Given the description of an element on the screen output the (x, y) to click on. 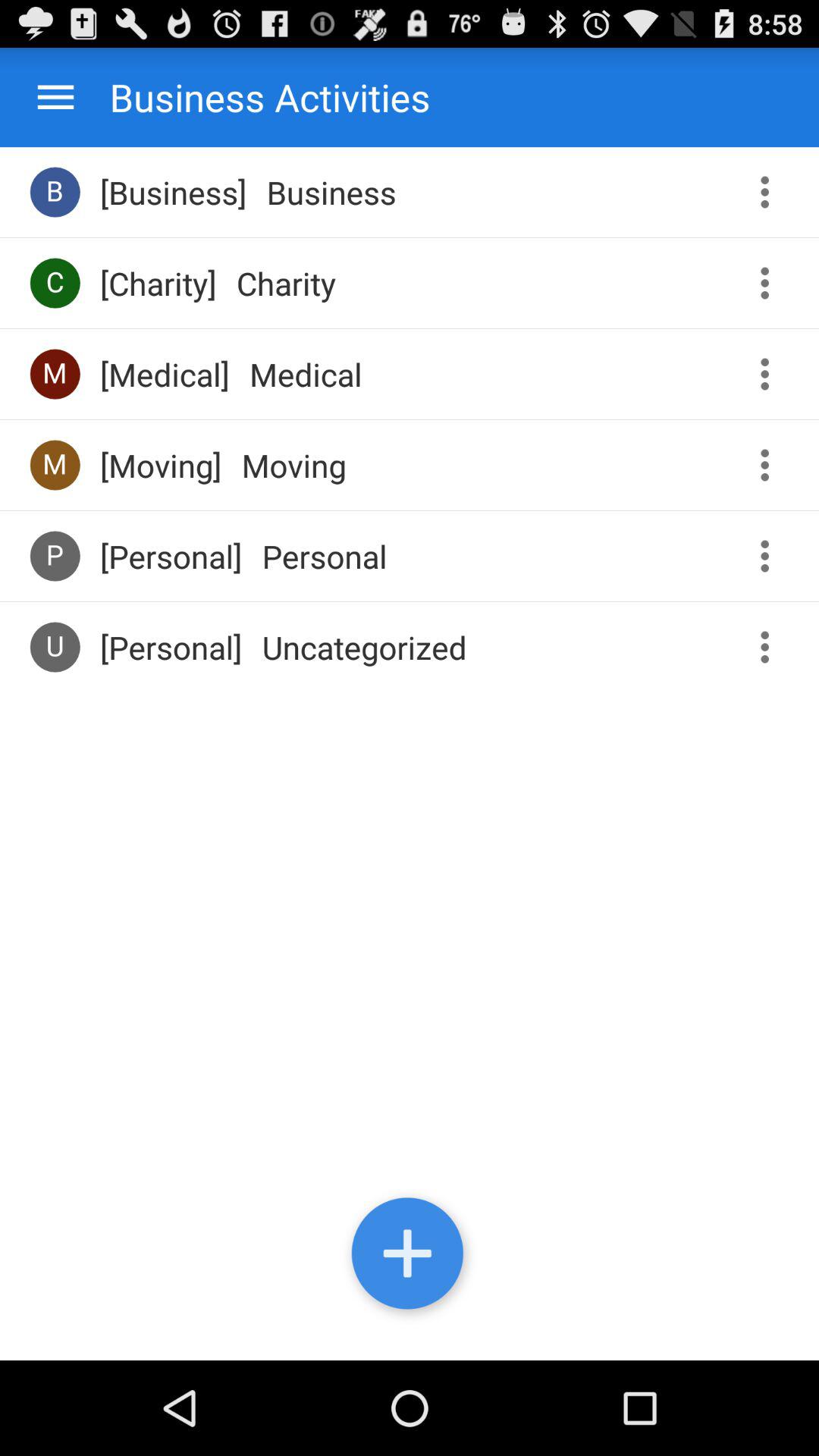
click the app below the m app (54, 555)
